Given the description of an element on the screen output the (x, y) to click on. 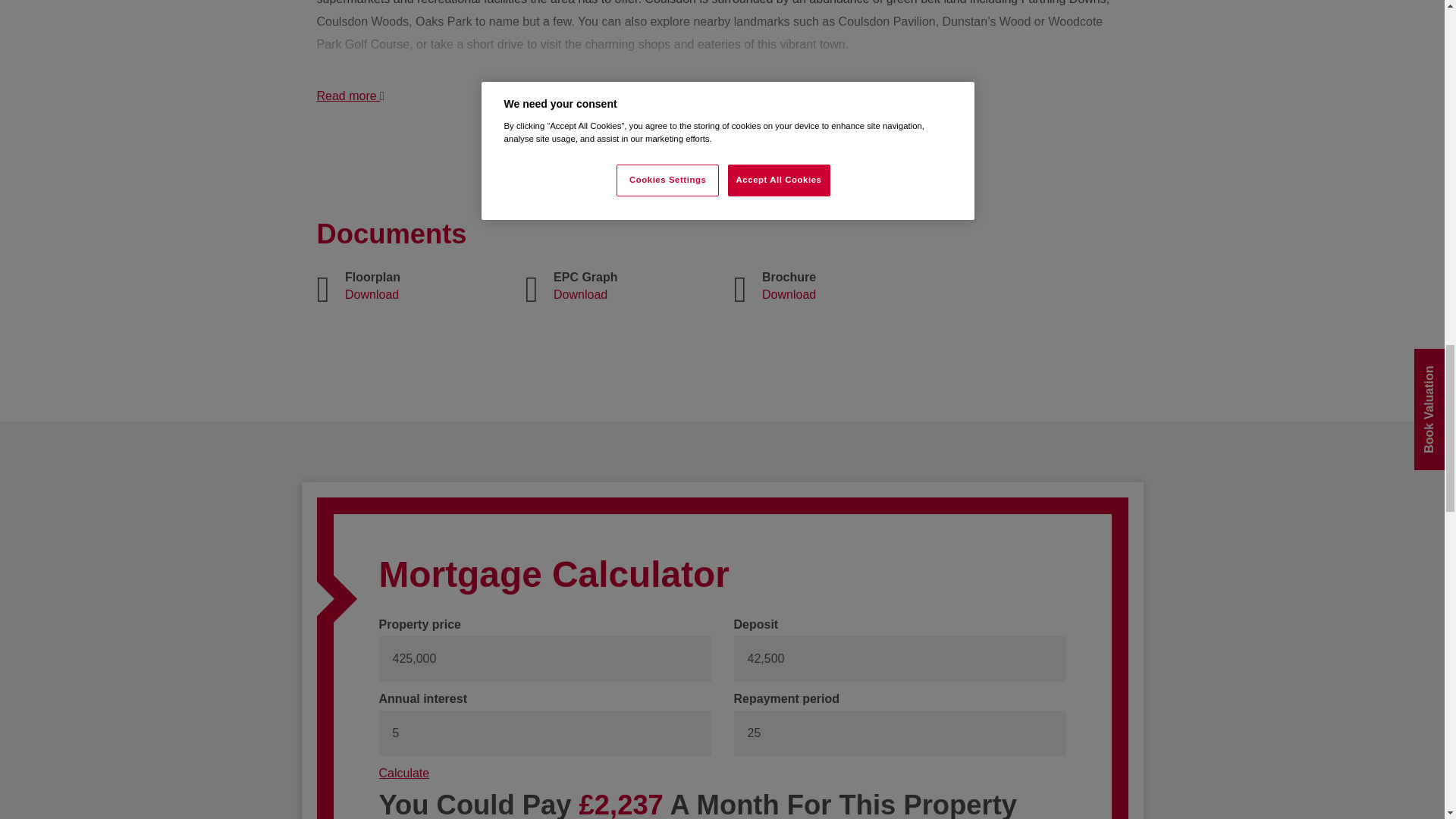
Calculate (403, 773)
5 (544, 732)
25 (899, 732)
42,500 (899, 658)
425,000 (544, 658)
